Given the description of an element on the screen output the (x, y) to click on. 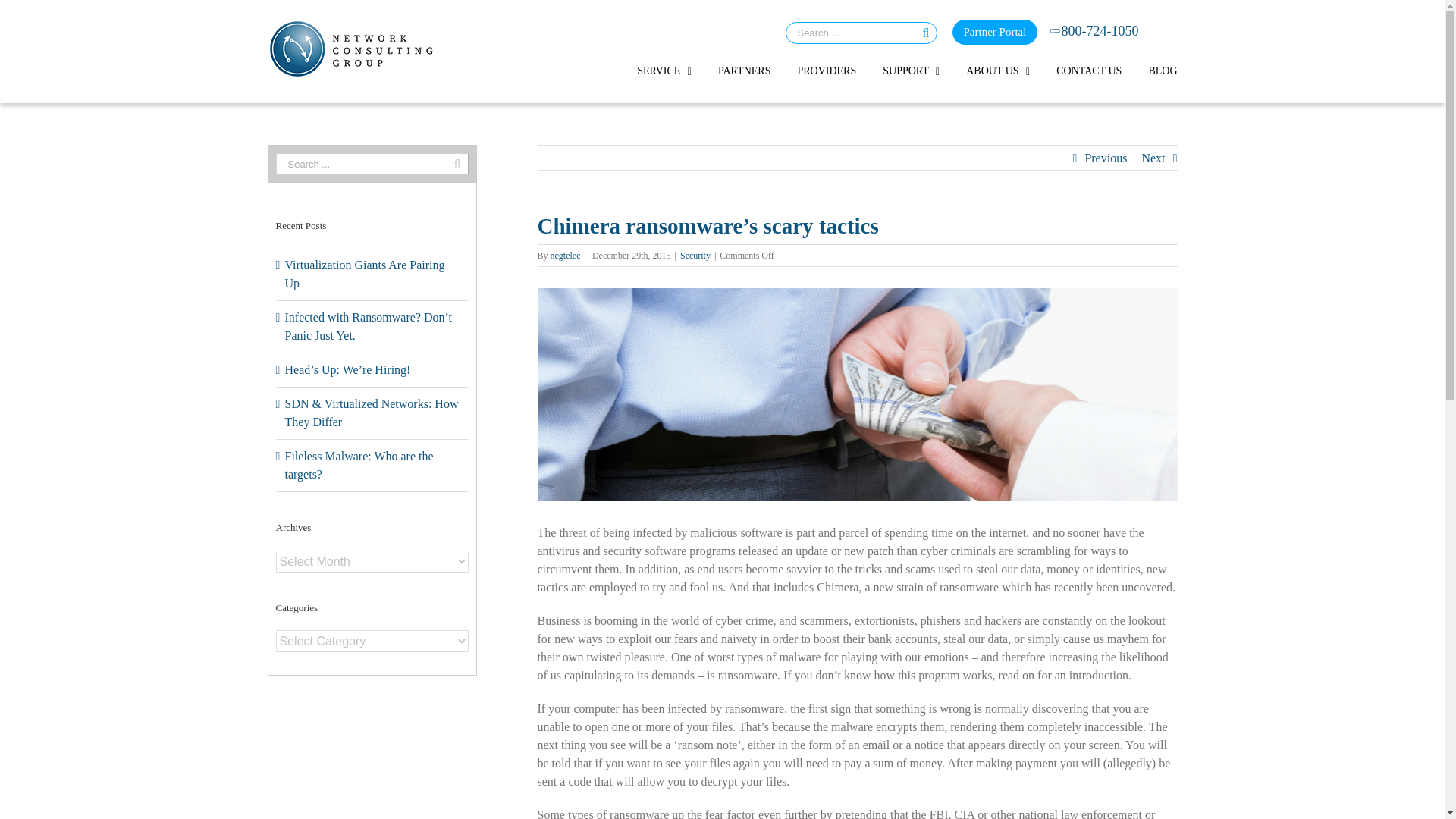
SUPPORT (910, 70)
SERVICE (664, 70)
ABOUT US (997, 70)
PROVIDERS (826, 70)
PARTNERS (743, 70)
Posts by ncgtelec (565, 255)
CONTACT US (1089, 70)
Partner Portal (995, 32)
800-724-1050 (1095, 31)
